Given the description of an element on the screen output the (x, y) to click on. 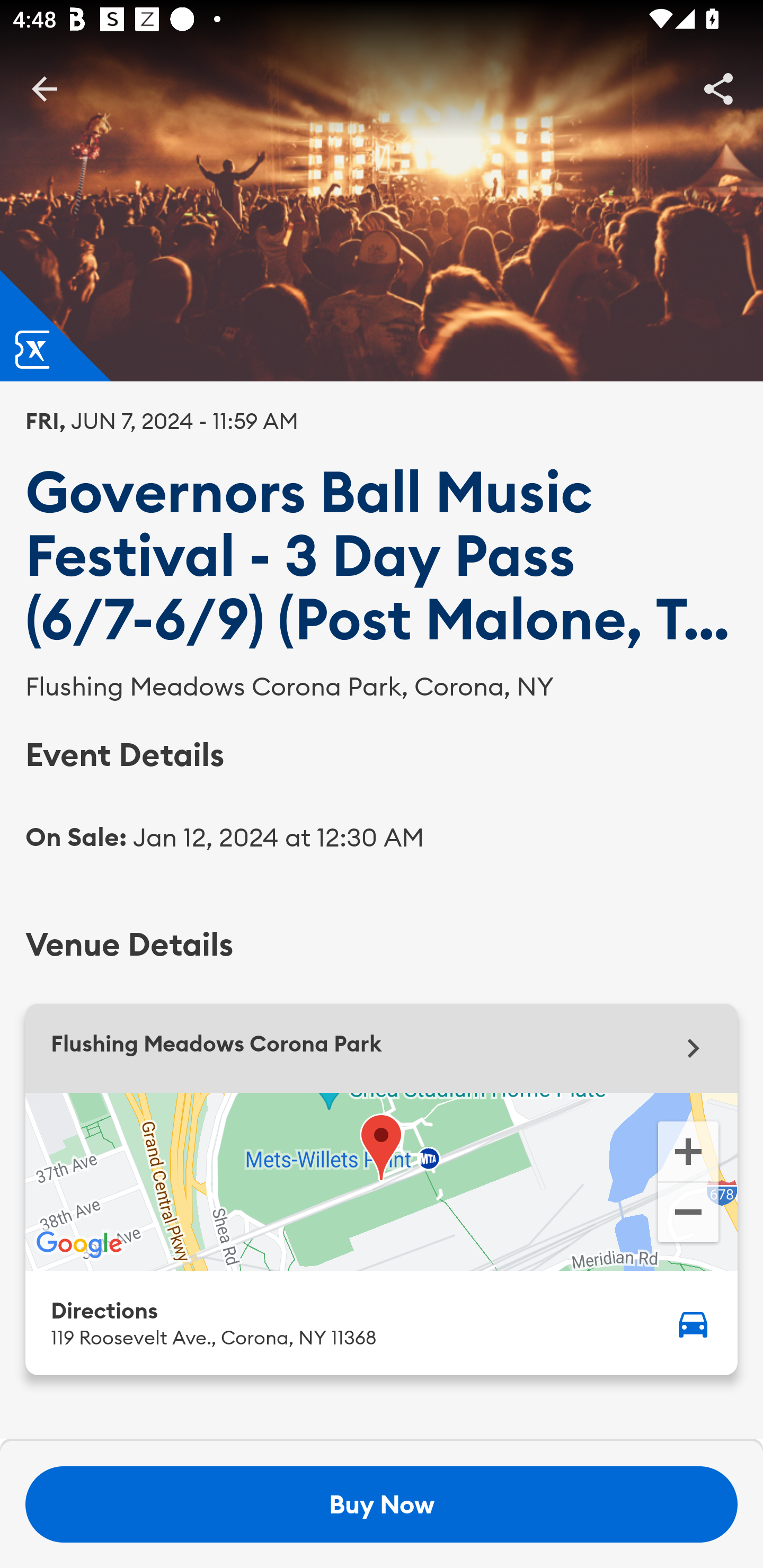
BackButton (44, 88)
Share (718, 88)
Flushing Meadows Corona Park (381, 1047)
Zoom in (687, 1149)
Zoom out (687, 1214)
Directions 119 Roosevelt Ave., Corona, NY 11368 (381, 1322)
Buy Now (381, 1504)
